Given the description of an element on the screen output the (x, y) to click on. 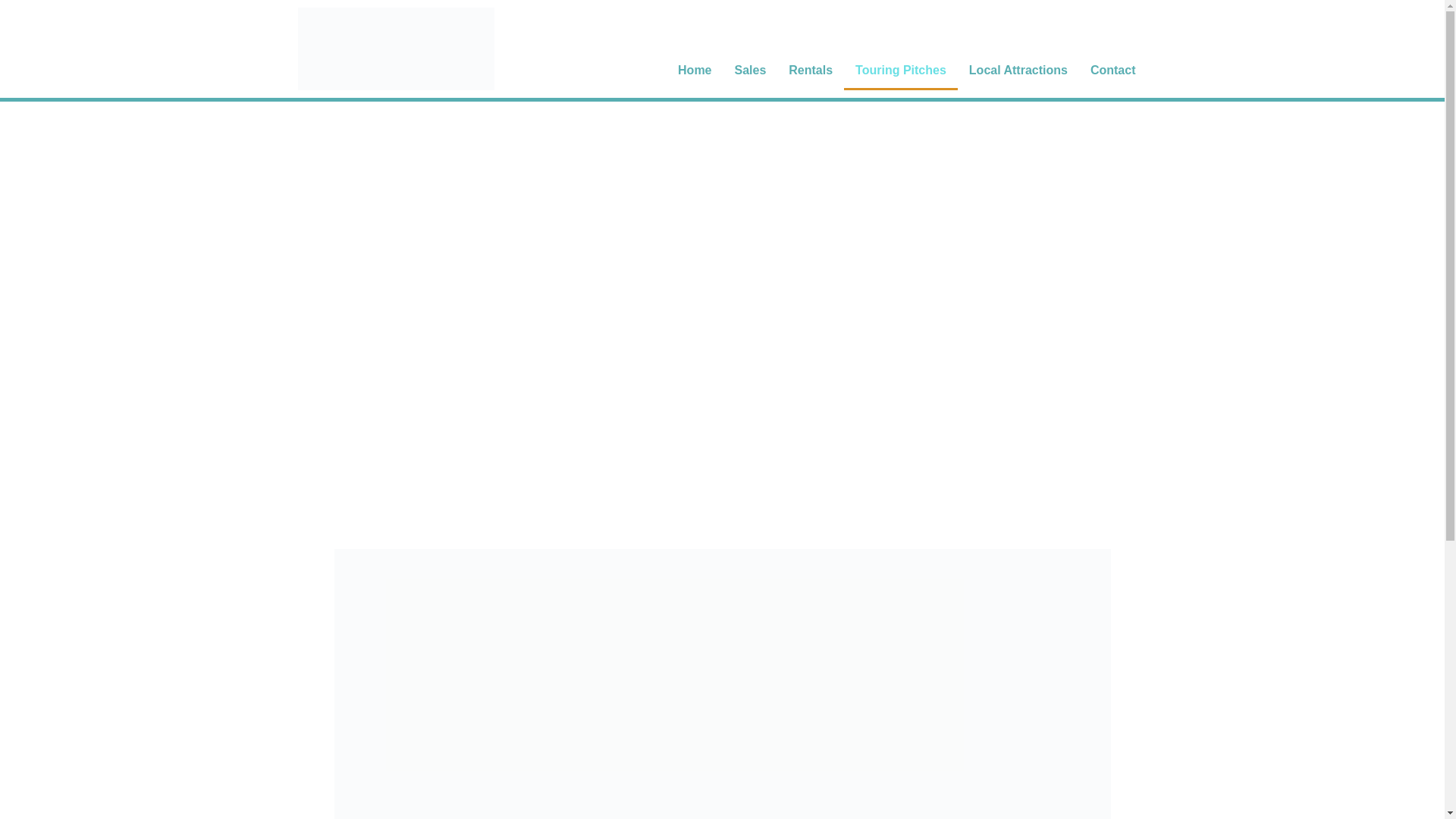
Touring Pitches (901, 70)
Sales (750, 70)
Home (694, 70)
Contact (1112, 70)
Local Attractions (1018, 70)
Rentals (810, 70)
